Given the description of an element on the screen output the (x, y) to click on. 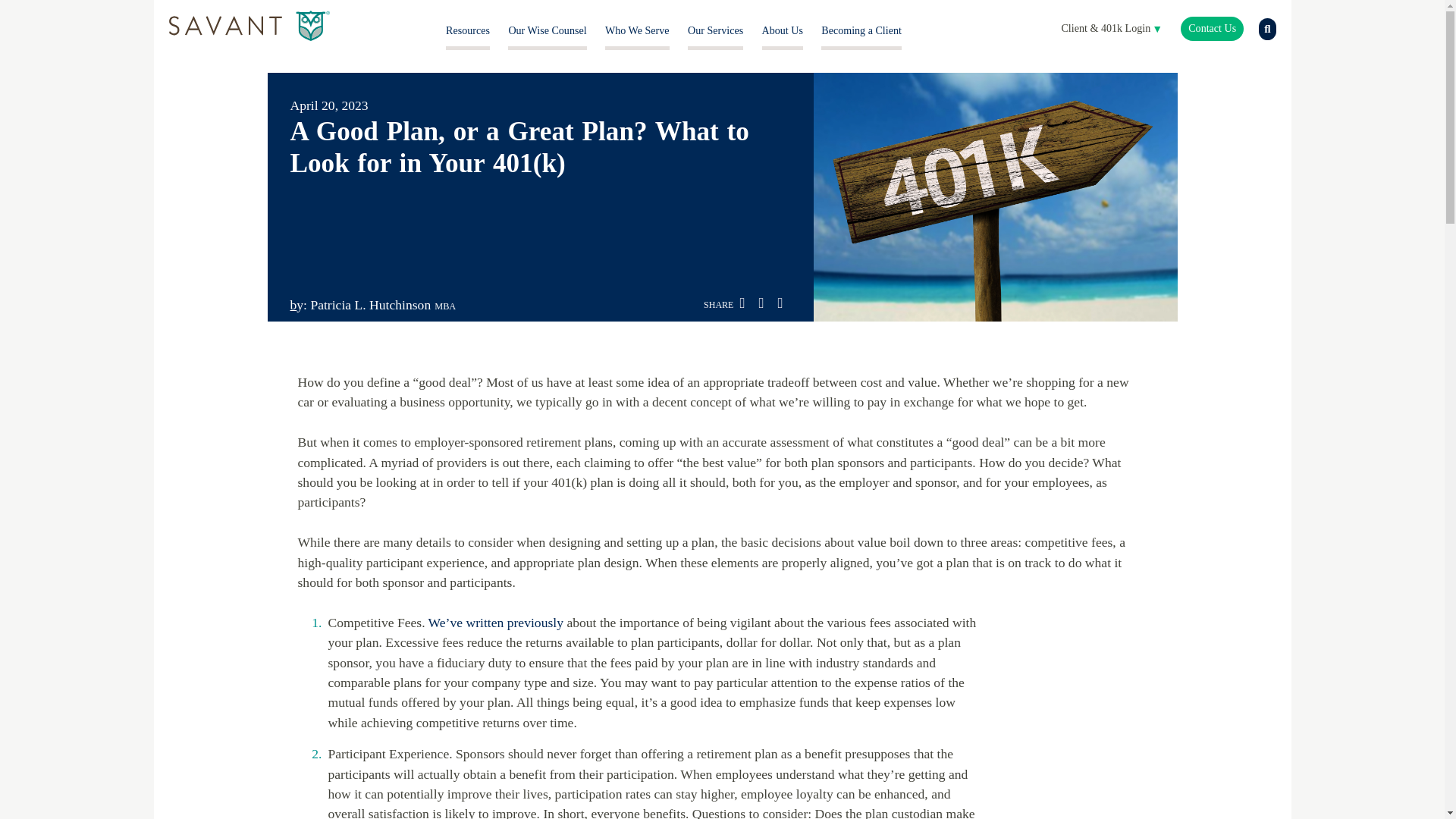
Our Services (714, 30)
Who We Serve (637, 30)
About Us (782, 30)
Resources (467, 30)
Our Wise Counsel (547, 30)
